Given the description of an element on the screen output the (x, y) to click on. 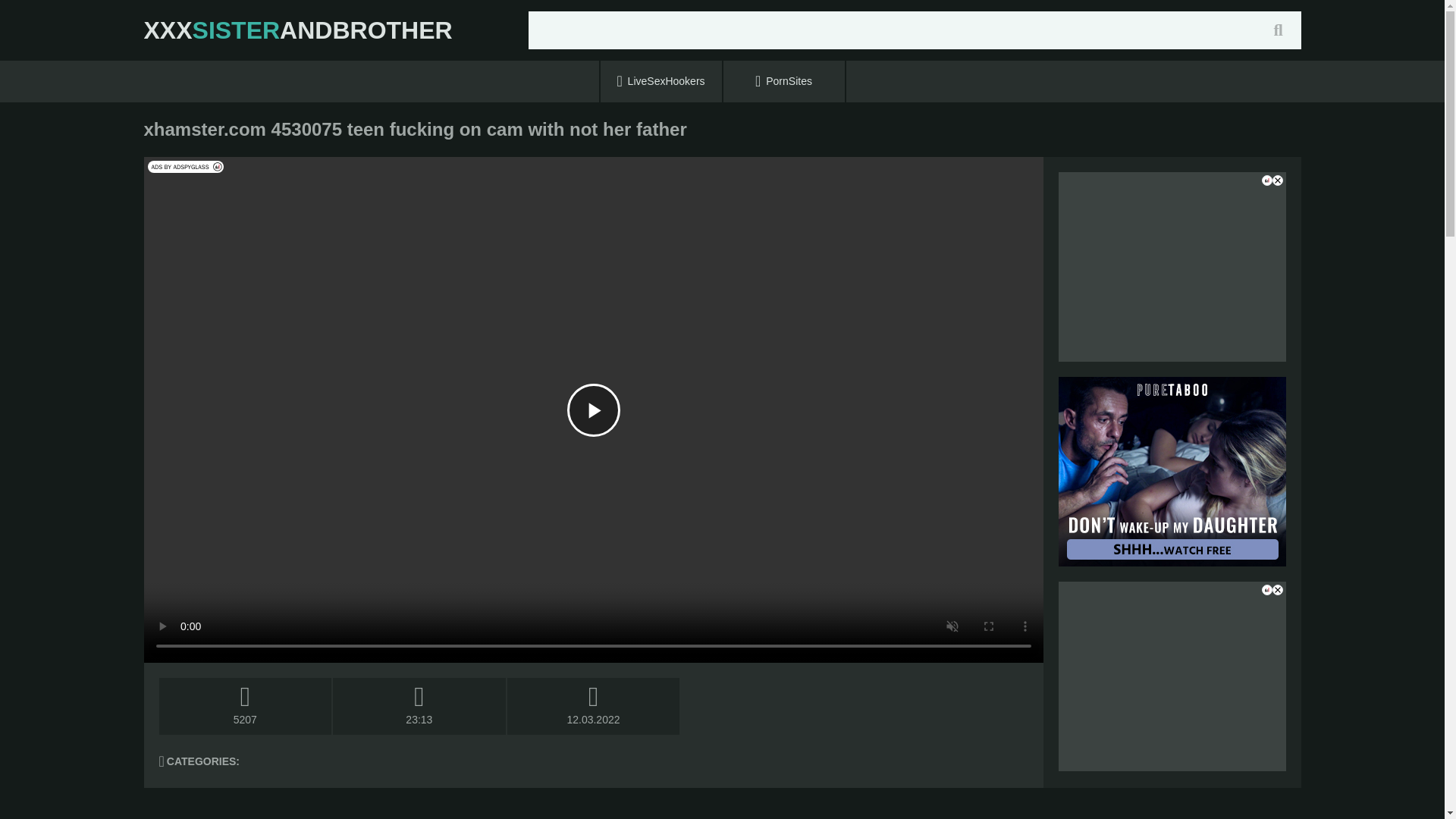
PornSites (783, 81)
Find (1278, 30)
LiveSexHookers (660, 81)
XXXSISTERANDBROTHER (298, 30)
Play Video (593, 410)
Play Video (593, 410)
